Given the description of an element on the screen output the (x, y) to click on. 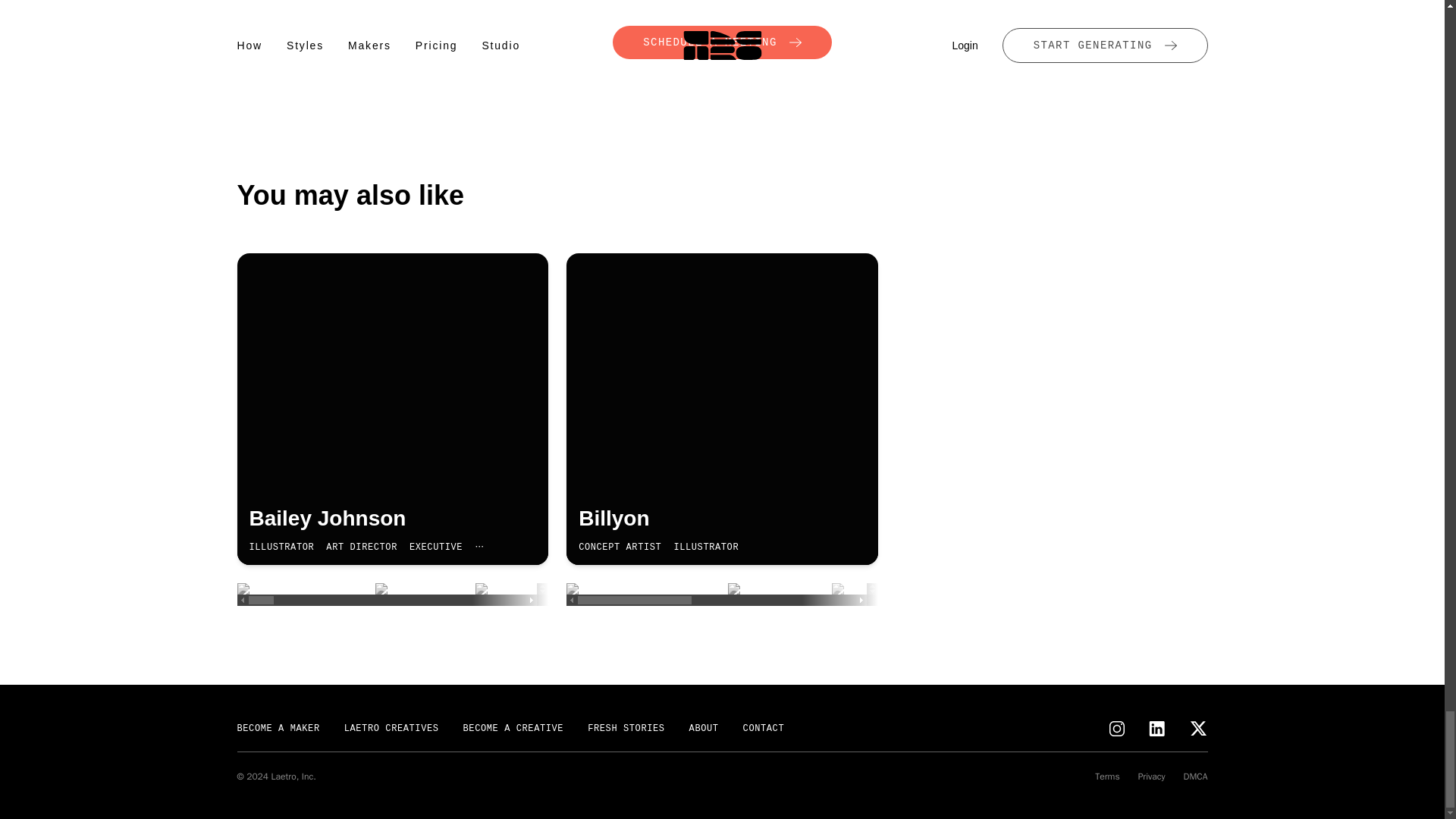
FRESH STORIES (625, 728)
LAETRO CREATIVES (391, 728)
Terms (1106, 776)
Privacy (1152, 776)
Billyon (722, 518)
ABOUT (703, 728)
BECOME A MAKER (276, 728)
BECOME A CREATIVE (513, 728)
SCHEDULE A MEETING (721, 409)
DMCA (721, 41)
Bailey Johnson (1195, 776)
CONTACT (391, 518)
